Given the description of an element on the screen output the (x, y) to click on. 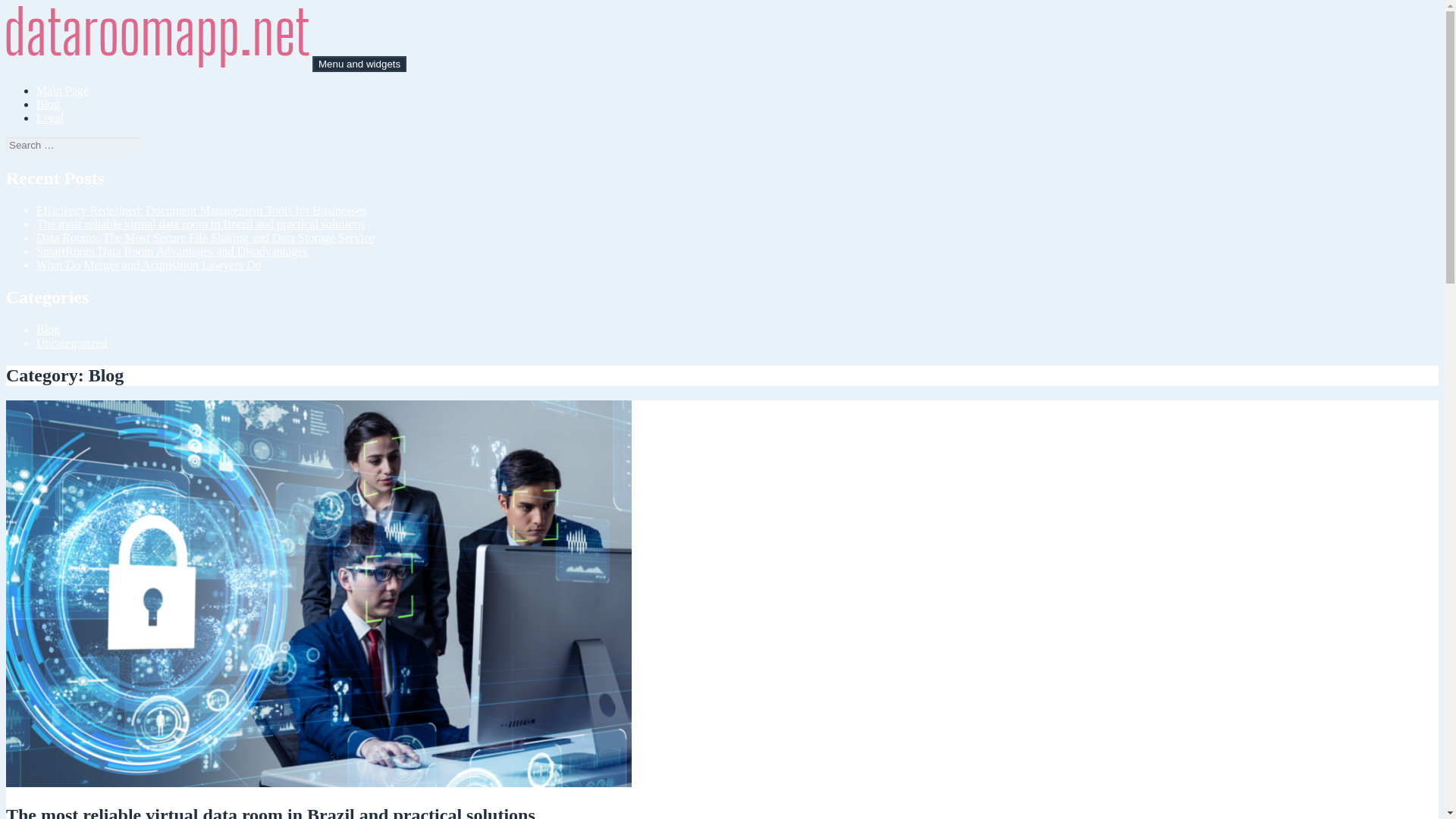
Main Page (62, 90)
Blog (47, 328)
Blog (47, 103)
What Do Merger and Acquisition Lawyers Do (149, 264)
Uncategorized (71, 342)
Menu and widgets (359, 64)
SmartRoom Data Room Advantages and Disadvantages (171, 250)
Legal (50, 117)
